Given the description of an element on the screen output the (x, y) to click on. 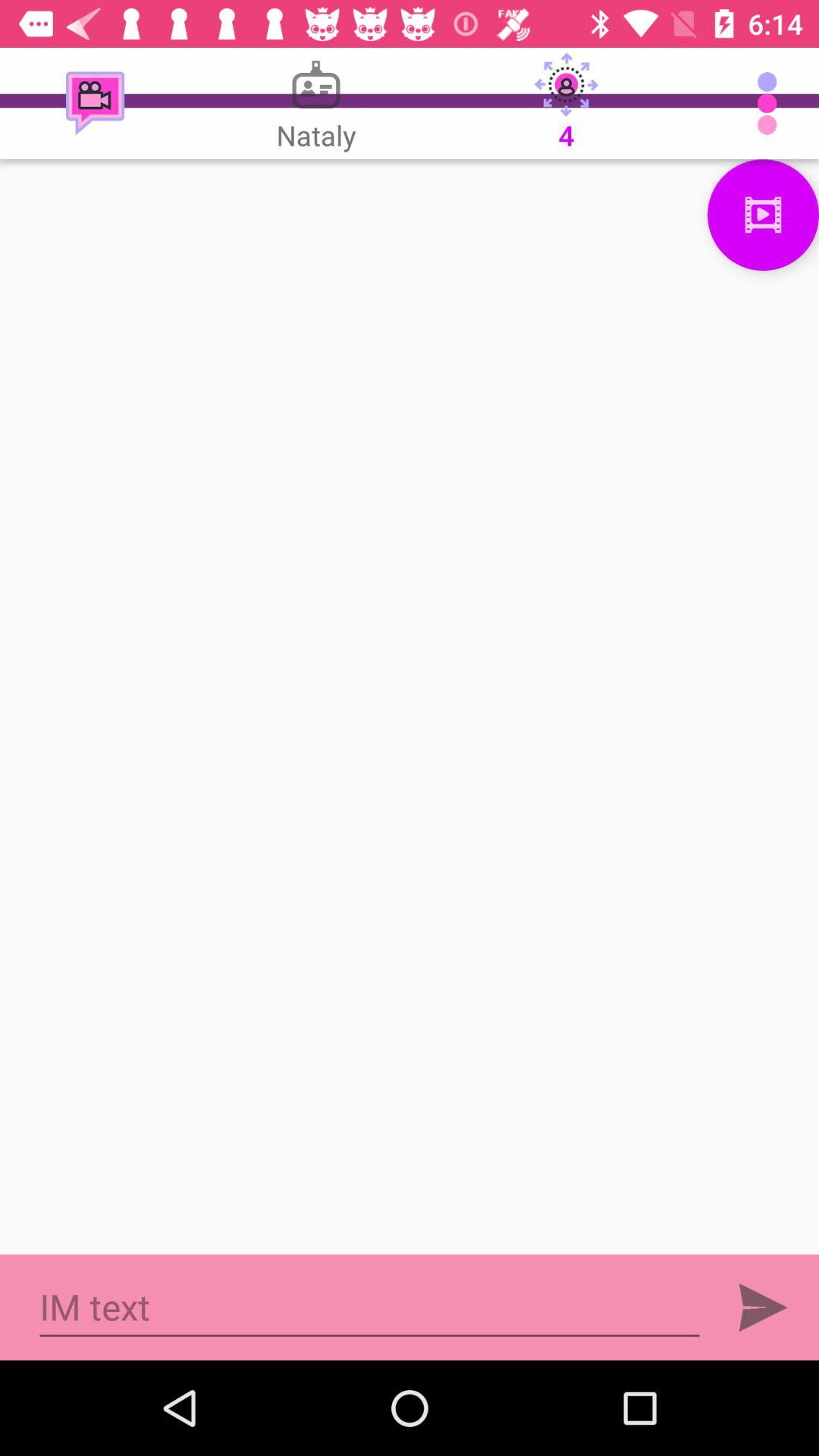
write the option (409, 706)
